Given the description of an element on the screen output the (x, y) to click on. 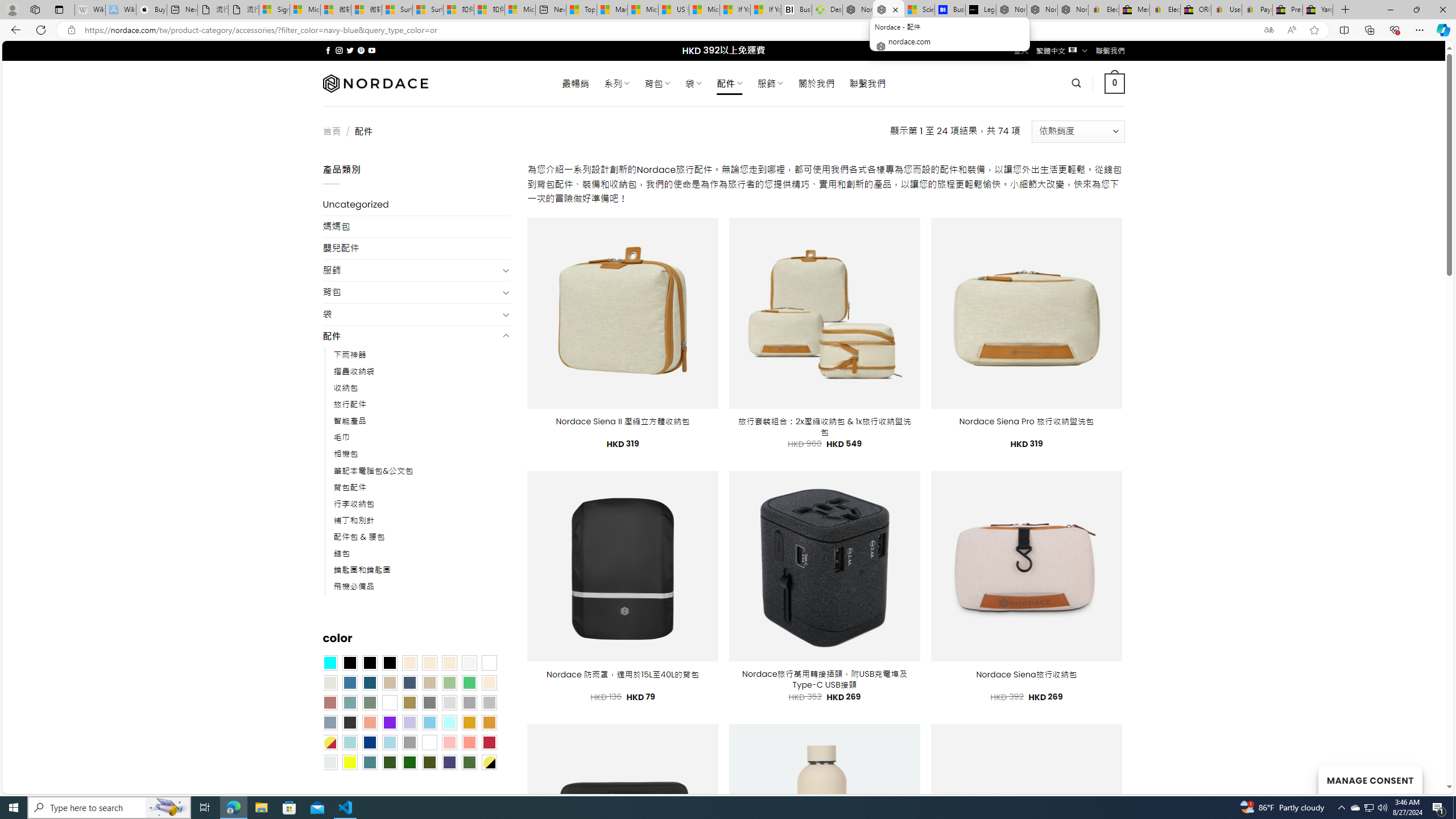
Press Room - eBay Inc. (1287, 9)
 0  (1115, 83)
Buy iPad - Apple (151, 9)
Follow on Facebook (327, 50)
